Given the description of an element on the screen output the (x, y) to click on. 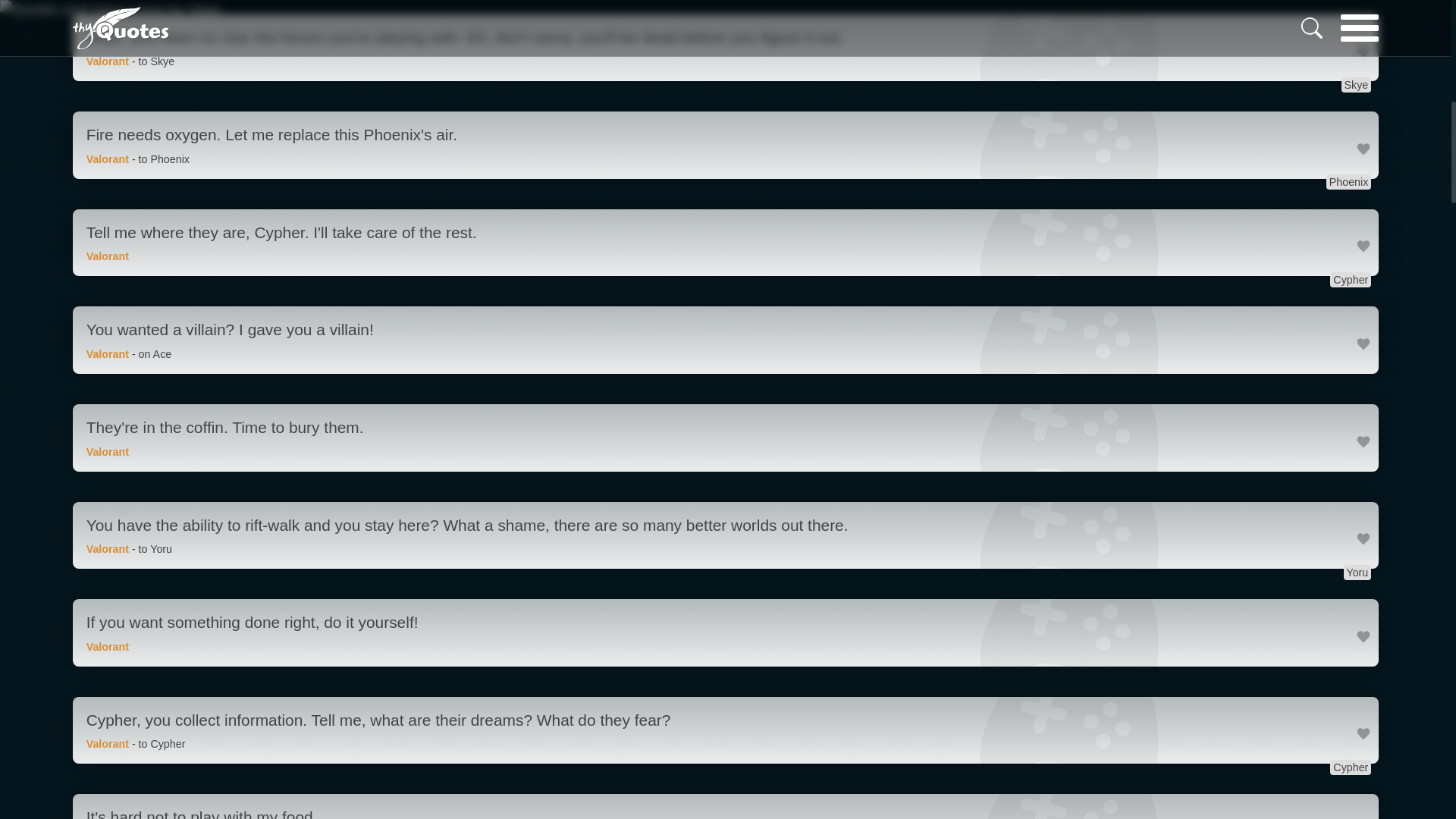
Yoru (1357, 572)
Phoenix (1348, 181)
Valorant (107, 256)
Valorant (107, 548)
Cypher (1350, 767)
Cypher (1350, 279)
Valorant (107, 646)
Valorant (107, 451)
Valorant (107, 159)
Skye (1355, 84)
